Given the description of an element on the screen output the (x, y) to click on. 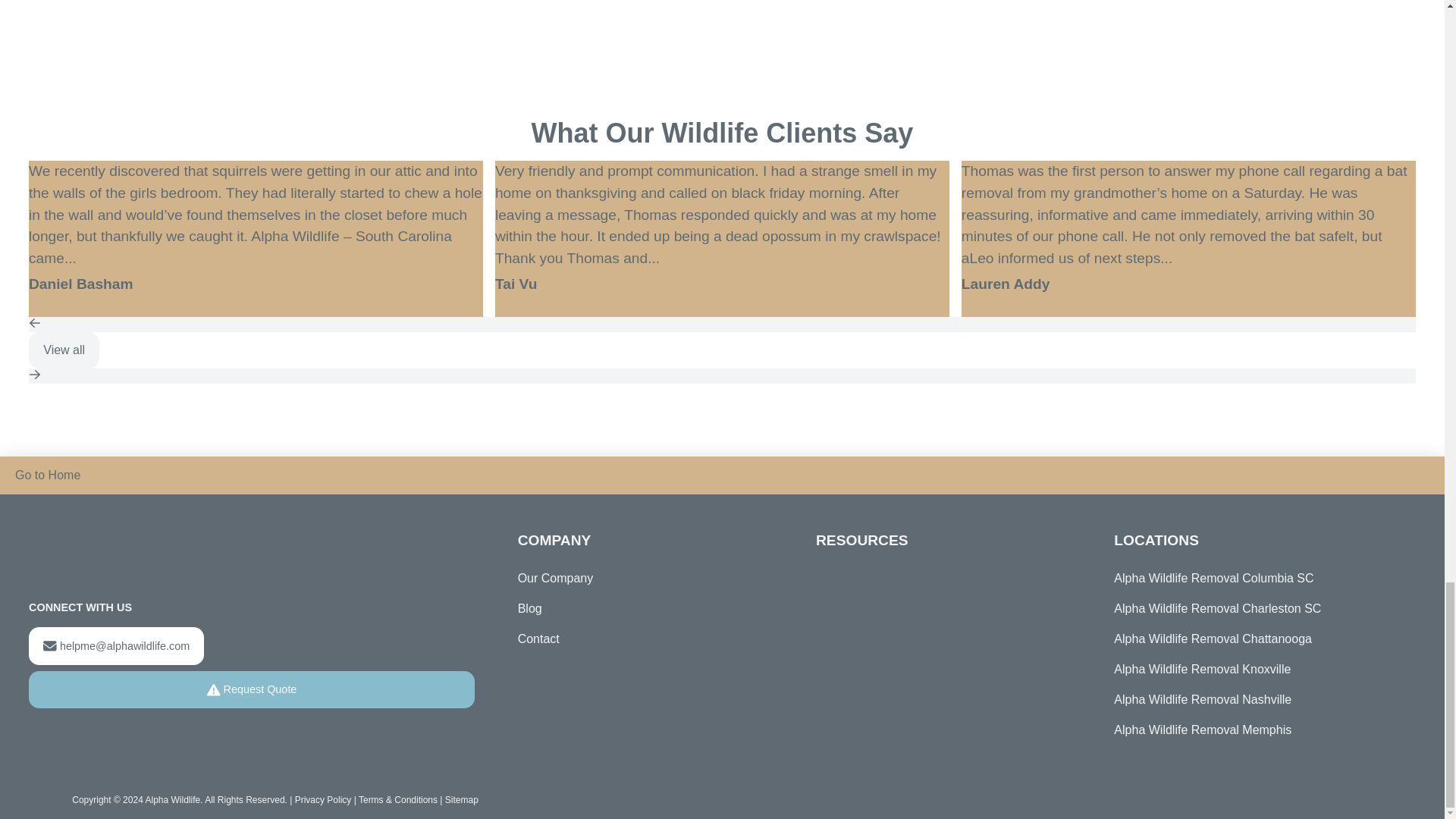
Alpha Wildlife Removal Chattanooga (1254, 639)
Our Company (556, 578)
Privacy Policy (323, 799)
Sitemap (462, 799)
Alpha Wildlife Removal Memphis (1254, 729)
Contact (538, 639)
Alpha Wildlife Removal Columbia SC (1254, 578)
Request Quote (251, 689)
View all (64, 350)
Alpha Wildlife Removal Charleston SC (1254, 608)
Alpha Wildlife Removal Nashville (1254, 699)
Alpha Wildlife Removal Knoxville (1254, 669)
